Given the description of an element on the screen output the (x, y) to click on. 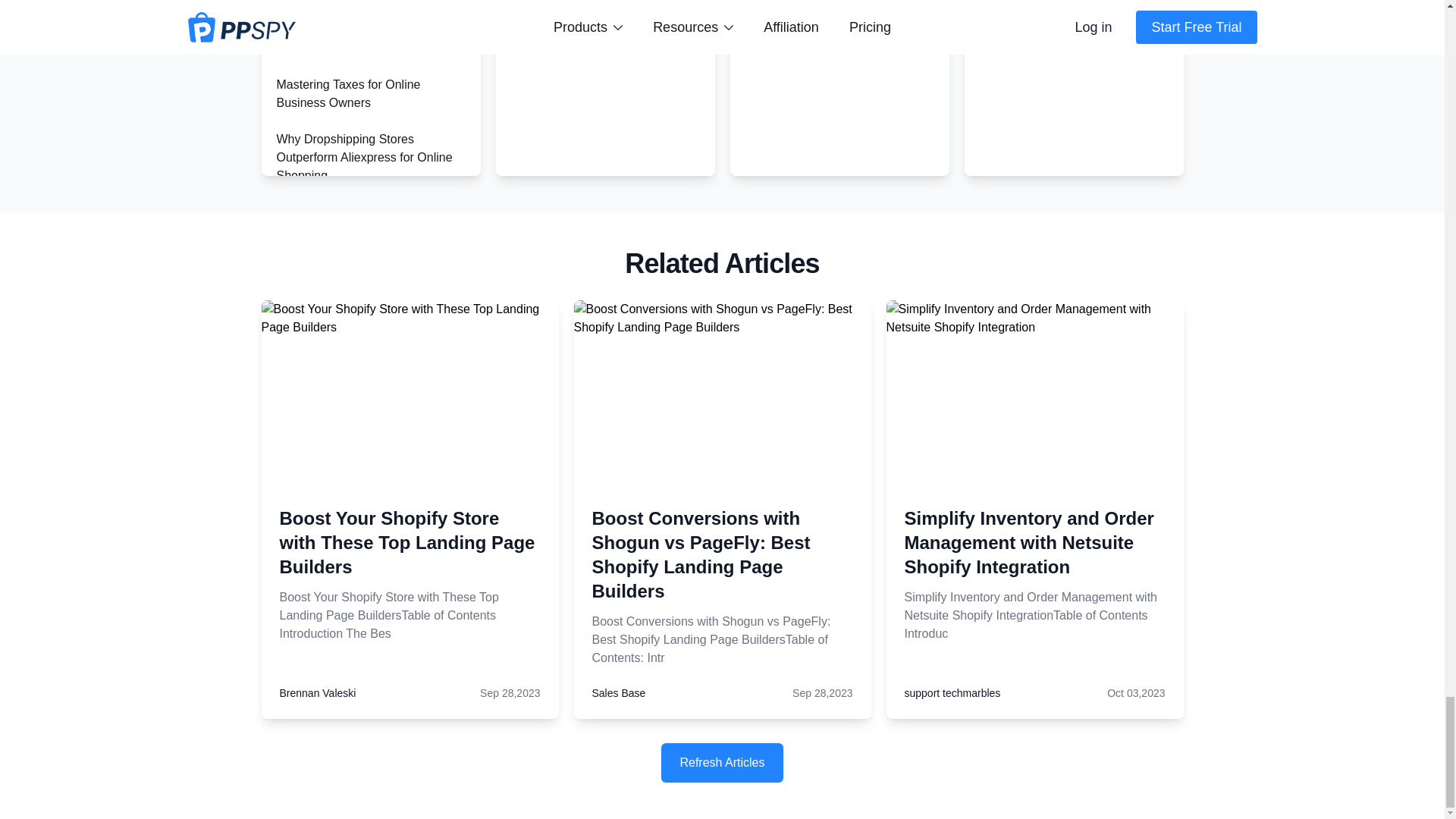
Mastering Profit Calculations for Your Amazon Business (362, 293)
Master Drop Shipping with Bigcommons (347, 530)
Sales Base (618, 693)
Mastering Taxes for Young Entrepreneurs (347, 38)
Boost Your Trading Success with Mechanical Rules (364, 420)
Brennan Valeski (317, 693)
The Ultimate Guide to Dropshipping with Big Cartel (352, 475)
Mastering Taxes for Online Business Owners (348, 92)
support techmarbles (952, 693)
